Given the description of an element on the screen output the (x, y) to click on. 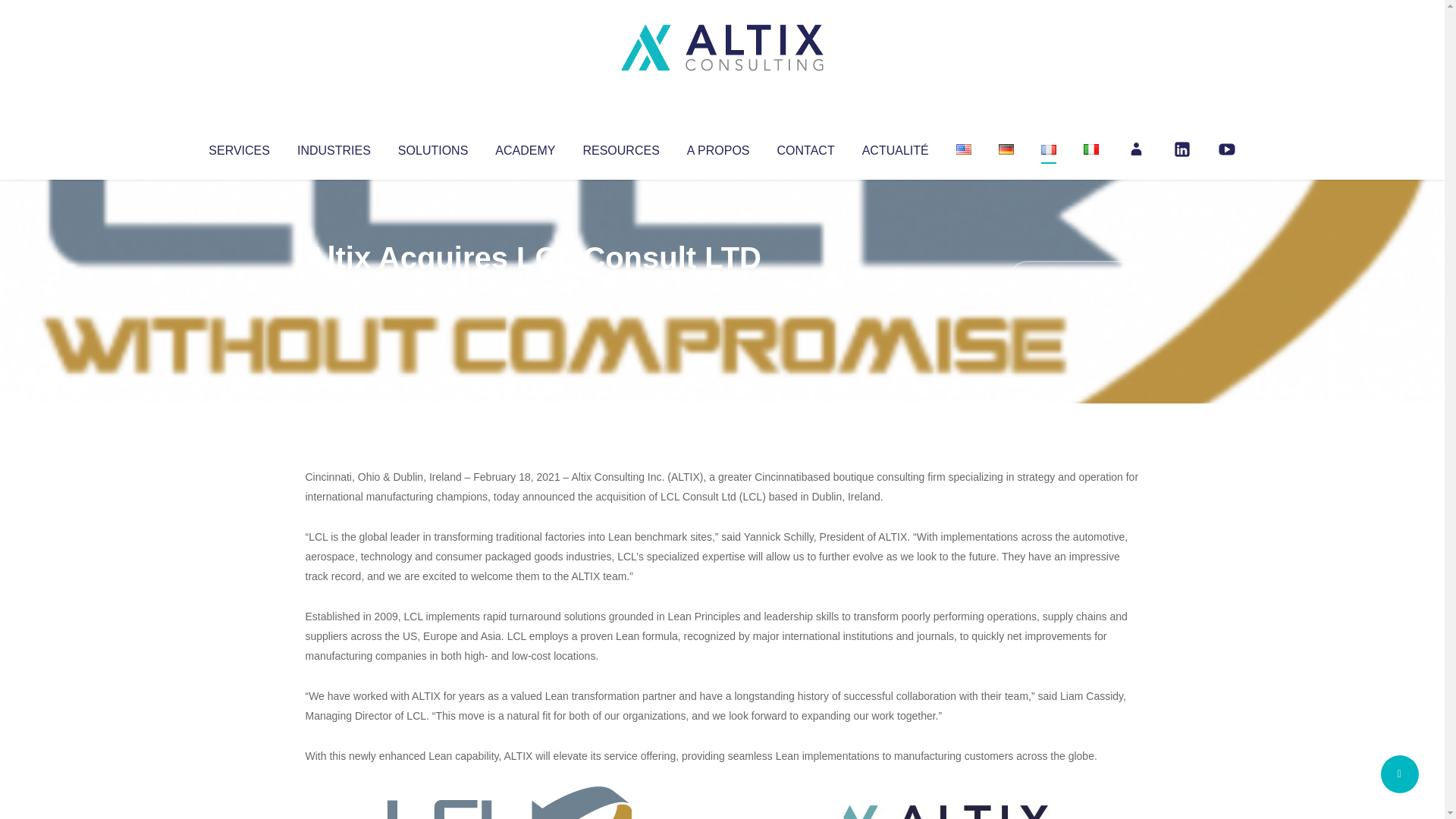
Uncategorized (530, 287)
Altix (333, 287)
SOLUTIONS (432, 146)
No Comments (1073, 278)
RESOURCES (620, 146)
Articles par Altix (333, 287)
SERVICES (238, 146)
ACADEMY (524, 146)
INDUSTRIES (334, 146)
A PROPOS (718, 146)
